Given the description of an element on the screen output the (x, y) to click on. 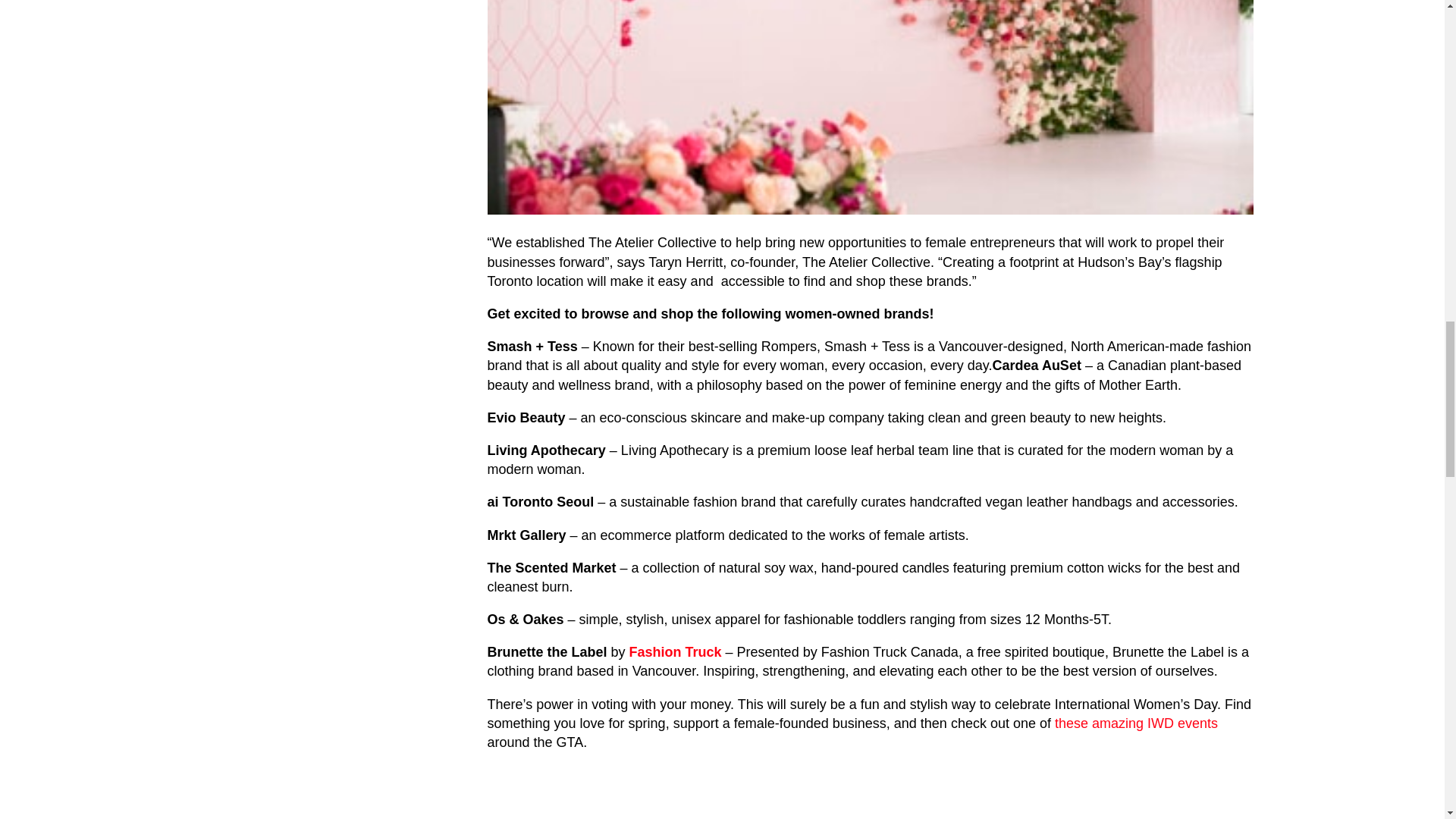
Evio Beauty (525, 417)
ai Toronto Seoul (540, 501)
Living Apothecary (545, 450)
Cardea AuSet (1036, 365)
